Given the description of an element on the screen output the (x, y) to click on. 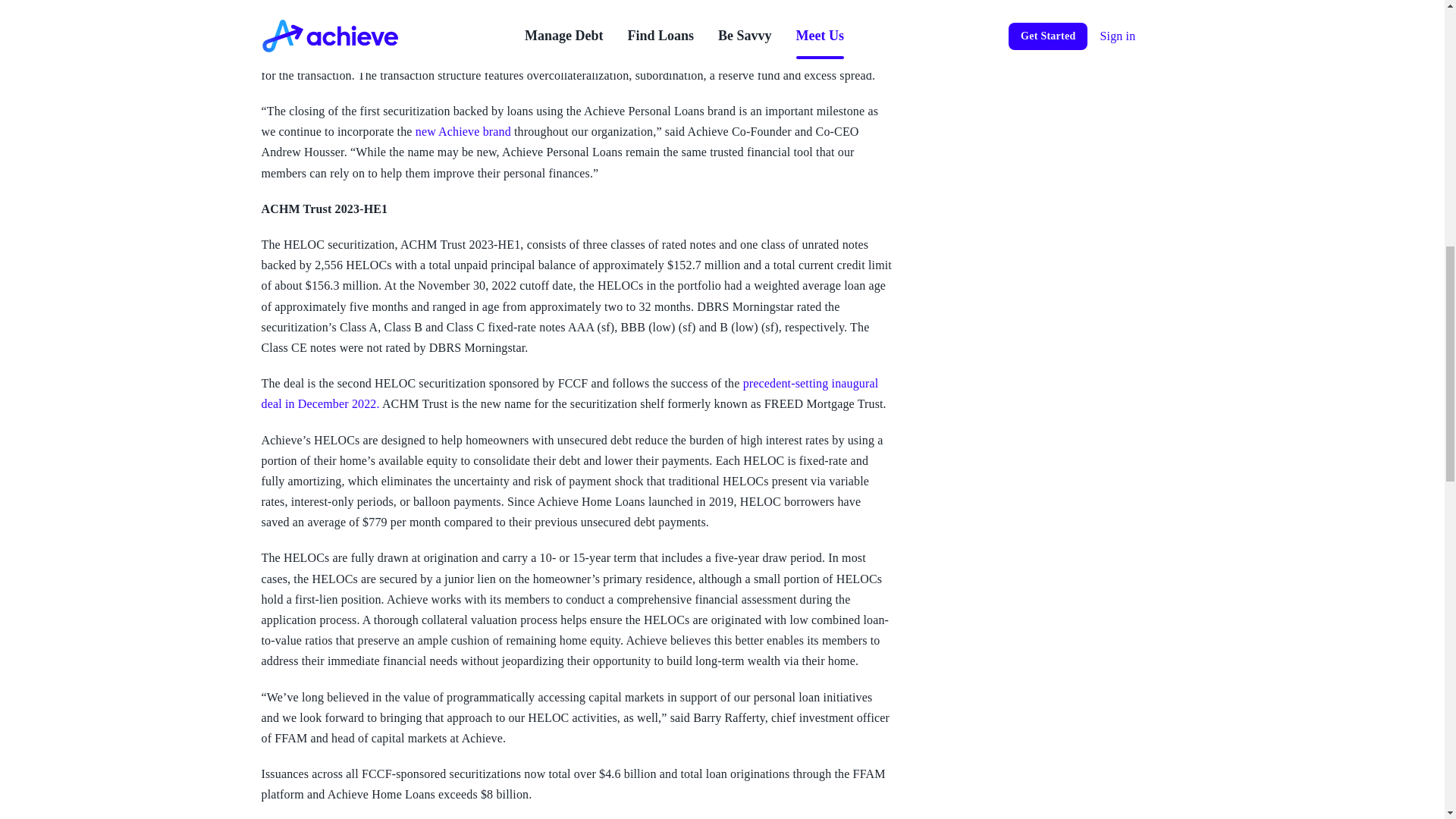
precedent-setting inaugural deal in December 2022. (568, 393)
new Achieve brand (462, 131)
